Given the description of an element on the screen output the (x, y) to click on. 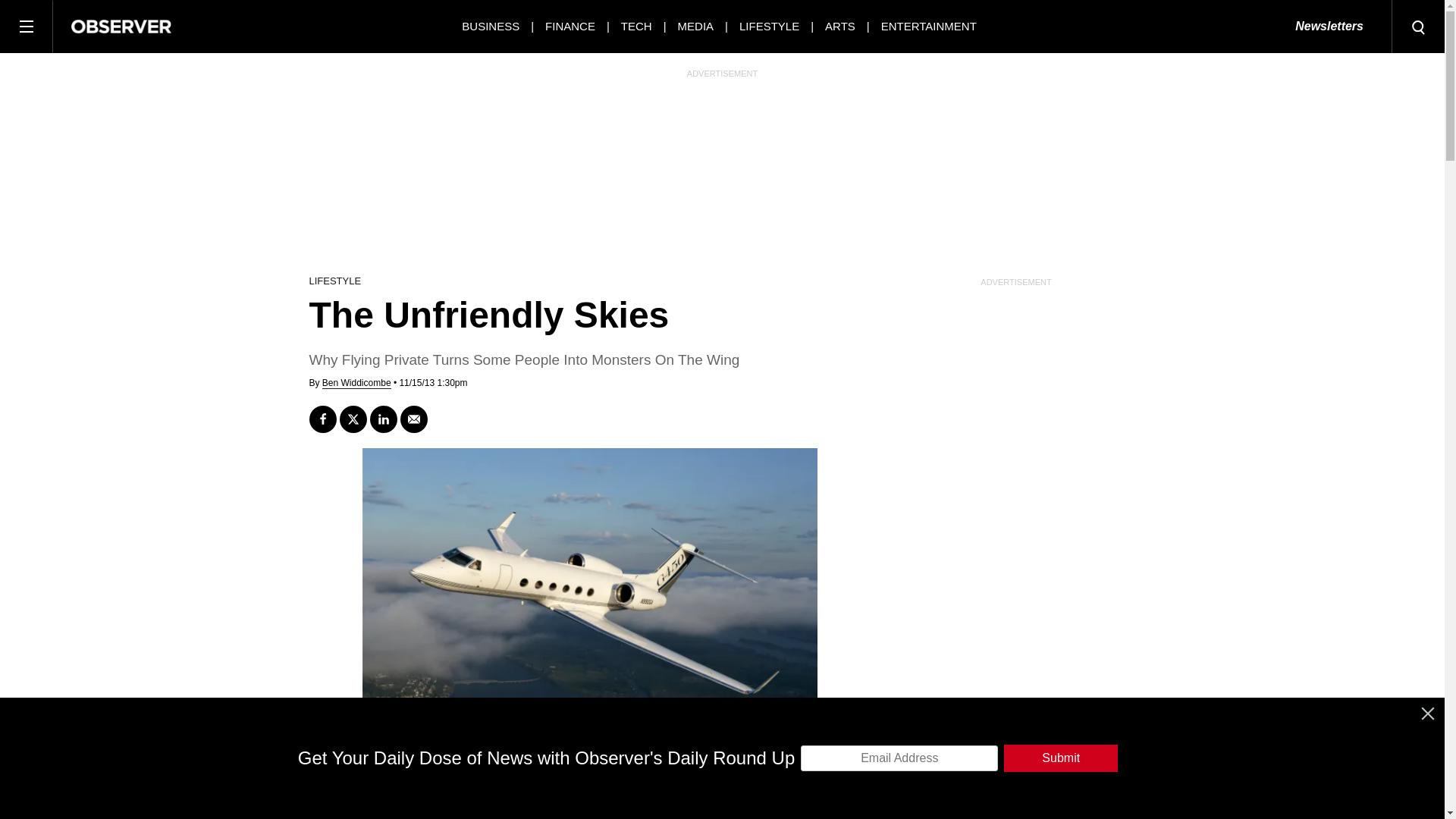
LIFESTYLE (769, 25)
TECH (636, 25)
Share on Facebook (322, 419)
ARTS (840, 25)
Tweet (352, 419)
BUSINESS (490, 25)
View All Posts by Ben Widdicombe (356, 383)
Observer (121, 26)
Send email (414, 419)
MEDIA (696, 25)
